Given the description of an element on the screen output the (x, y) to click on. 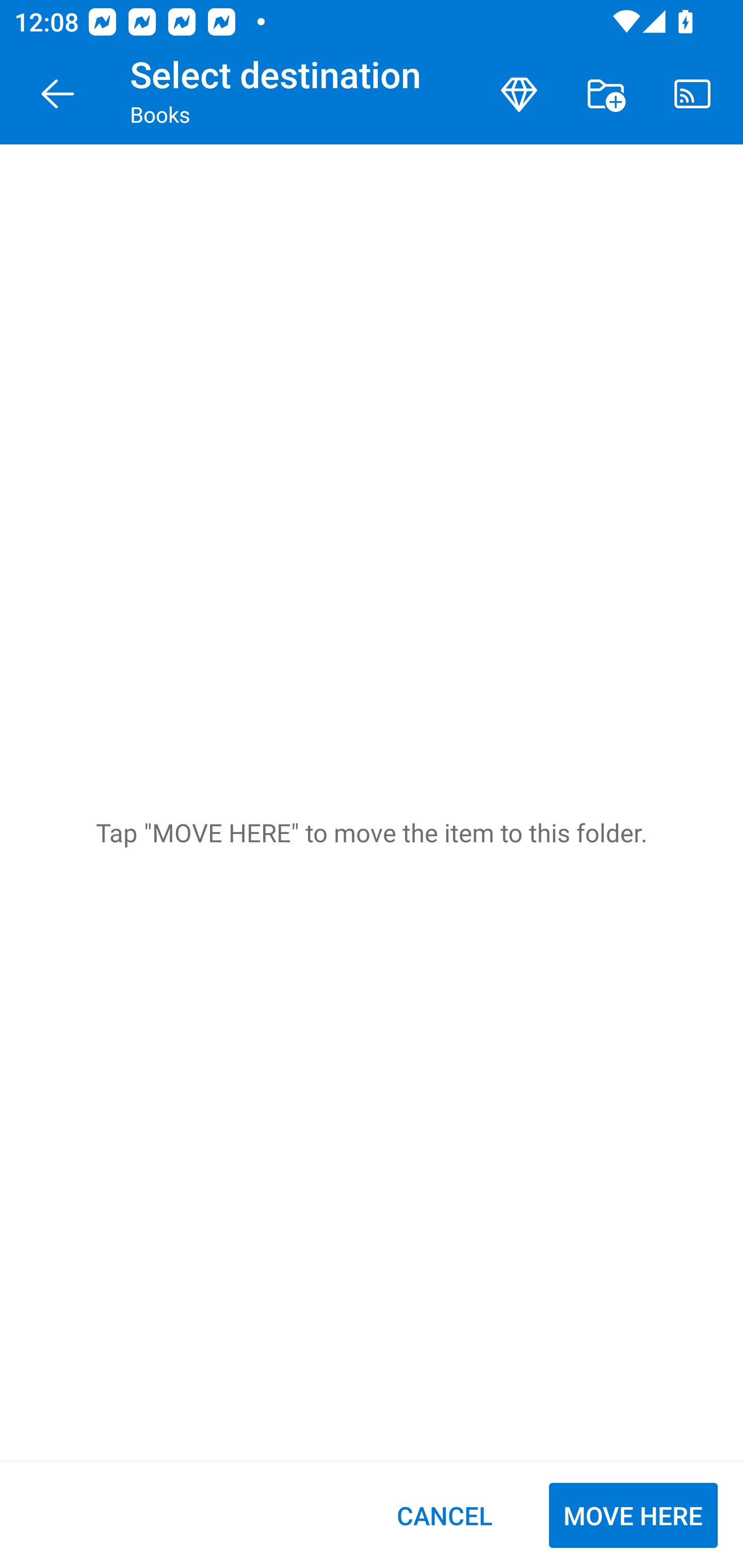
Navigate Up (57, 93)
Cast. Disconnected (692, 93)
Premium button (518, 93)
More actions button (605, 93)
CANCEL (443, 1515)
MOVE HERE (633, 1515)
